Given the description of an element on the screen output the (x, y) to click on. 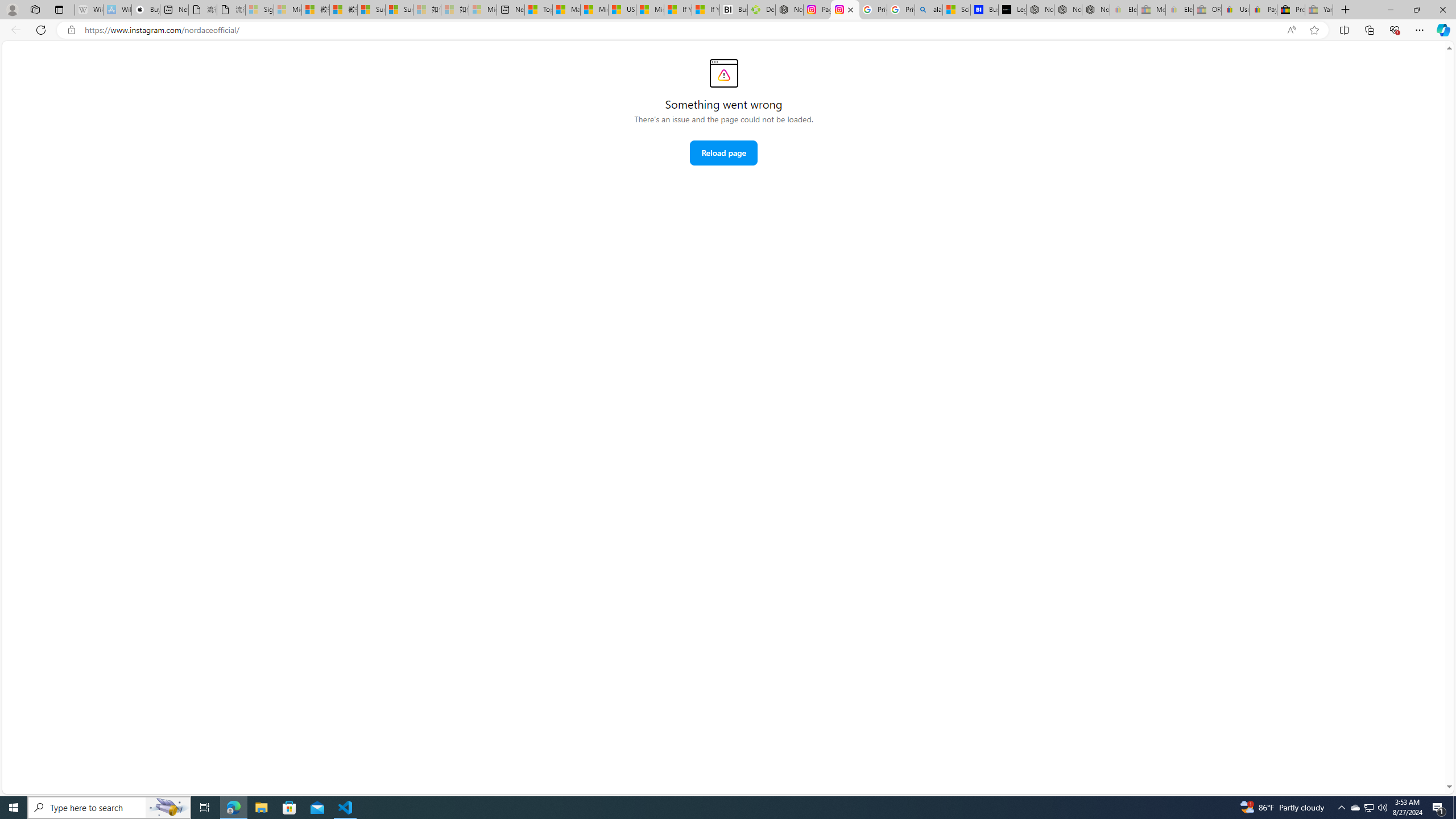
Microsoft account | Account Checkup - Sleeping (483, 9)
US Heat Deaths Soared To Record High Last Year (621, 9)
